Given the description of an element on the screen output the (x, y) to click on. 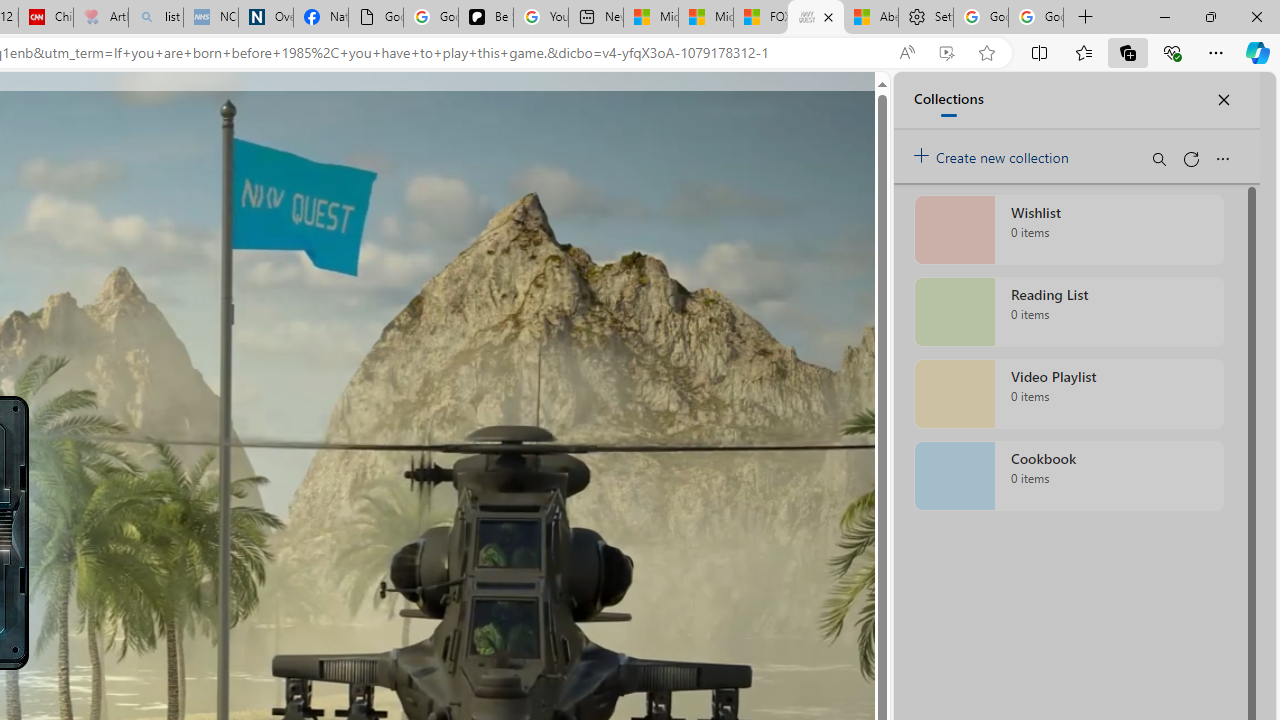
Restore (1210, 16)
Settings (925, 17)
Copilot (Ctrl+Shift+.) (1258, 52)
Favorites (1083, 52)
Be Smart | creating Science videos | Patreon (486, 17)
Read aloud this page (Ctrl+Shift+U) (906, 53)
New Tab (1085, 17)
FOX News - MSN (760, 17)
Browser essentials (1171, 52)
New tab (596, 17)
